Given the description of an element on the screen output the (x, y) to click on. 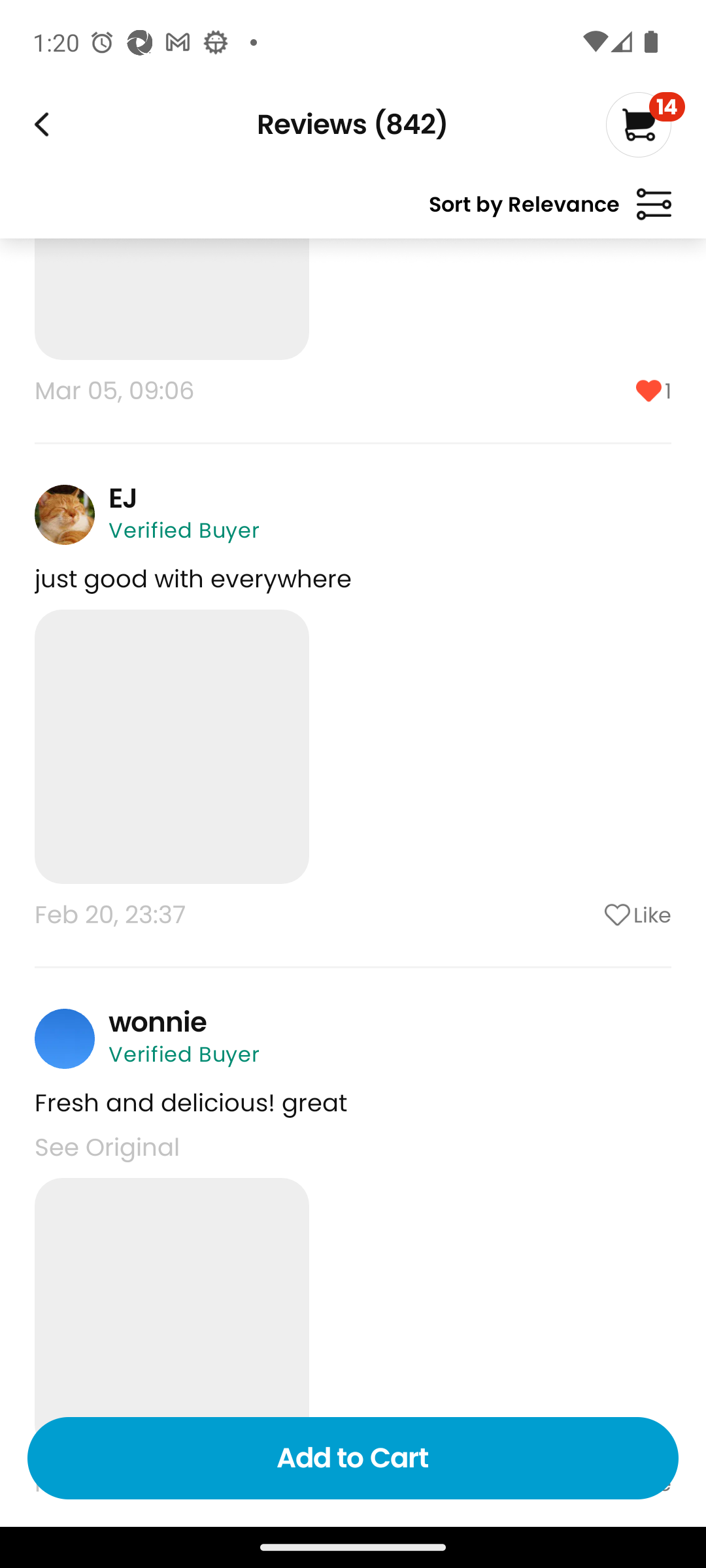
14 (644, 124)
Sort by Relevance (549, 212)
1 (585, 391)
EJ (122, 497)
Verified Buyer (183, 530)
Like (585, 914)
wonnie (157, 1022)
Verified Buyer (183, 1054)
See Original (107, 1146)
Add to Cart (352, 1458)
